Given the description of an element on the screen output the (x, y) to click on. 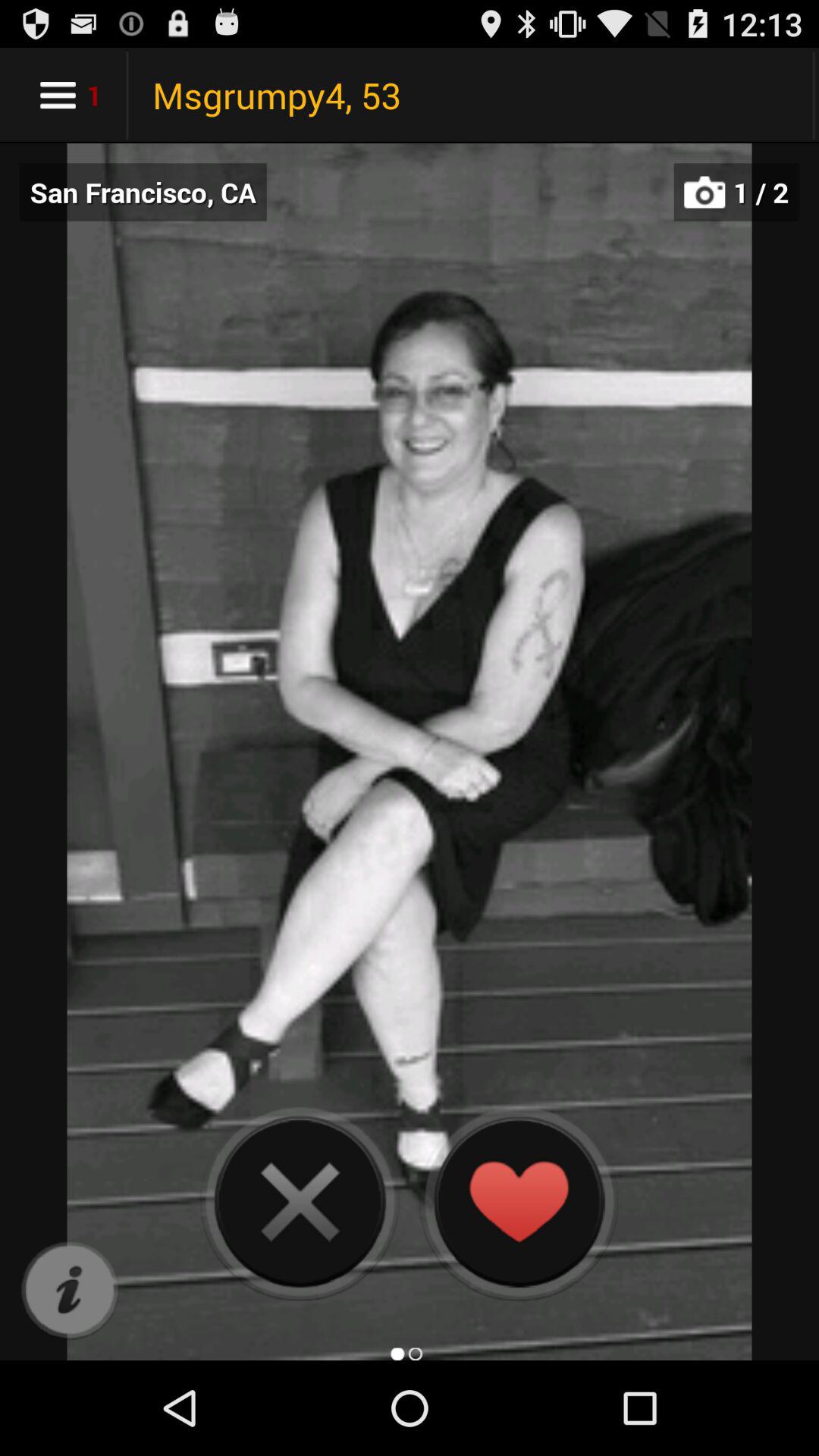
press item below the san francisco, ca icon (69, 1290)
